Given the description of an element on the screen output the (x, y) to click on. 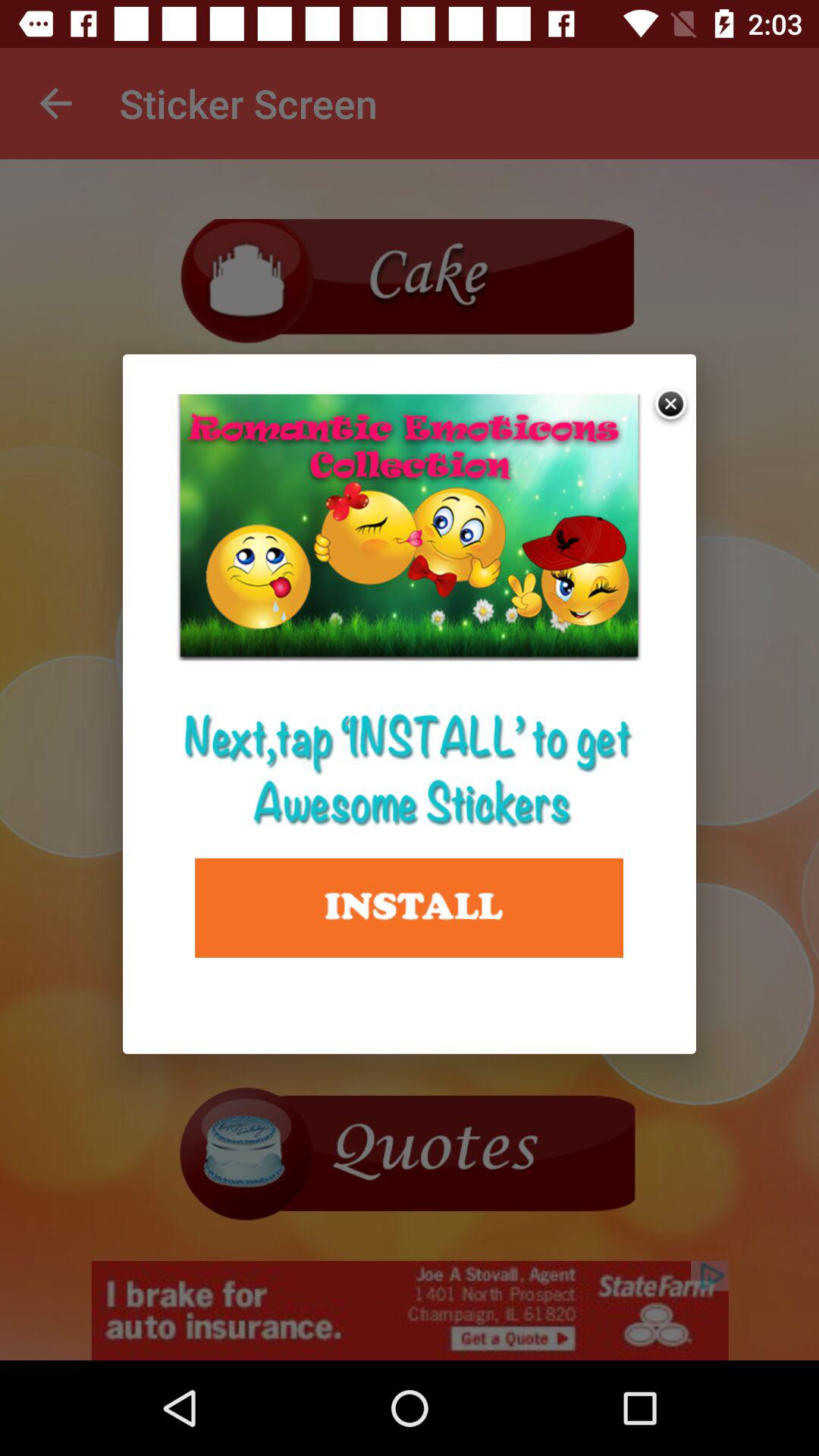
close window (672, 405)
